Given the description of an element on the screen output the (x, y) to click on. 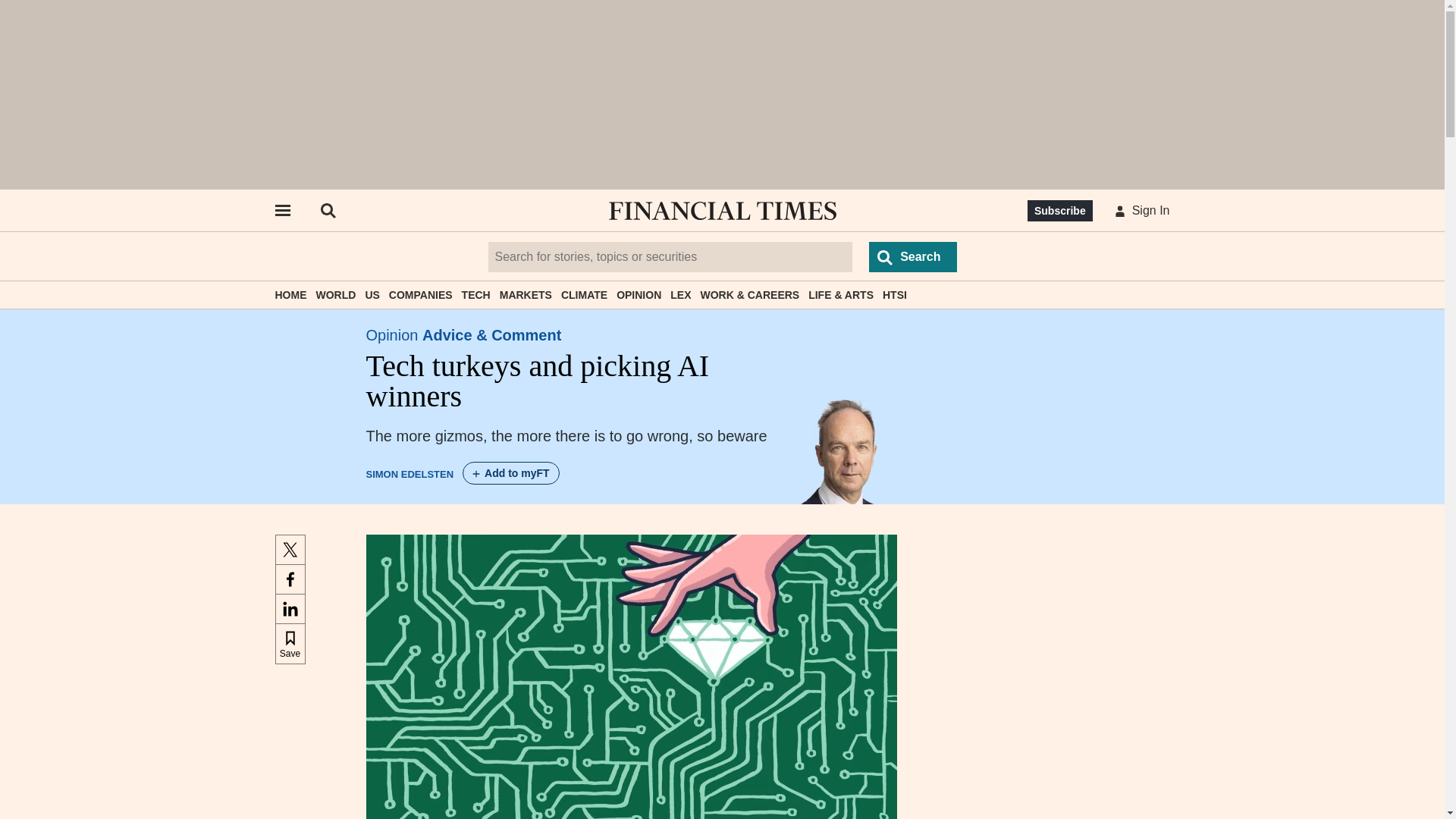
Subscribe (1060, 210)
Add Simon Edelsten to myFT (511, 472)
Open side navigation menu (281, 210)
Open search bar (327, 210)
HOME (290, 294)
OPEN SEARCH BAR (327, 210)
OPEN SIDE NAVIGATION MENU (281, 210)
Sign In (1139, 210)
Financial Times (721, 210)
Go to Financial Times homepage (721, 210)
Search (912, 256)
WORLD (335, 294)
Financial Times (721, 210)
